Given the description of an element on the screen output the (x, y) to click on. 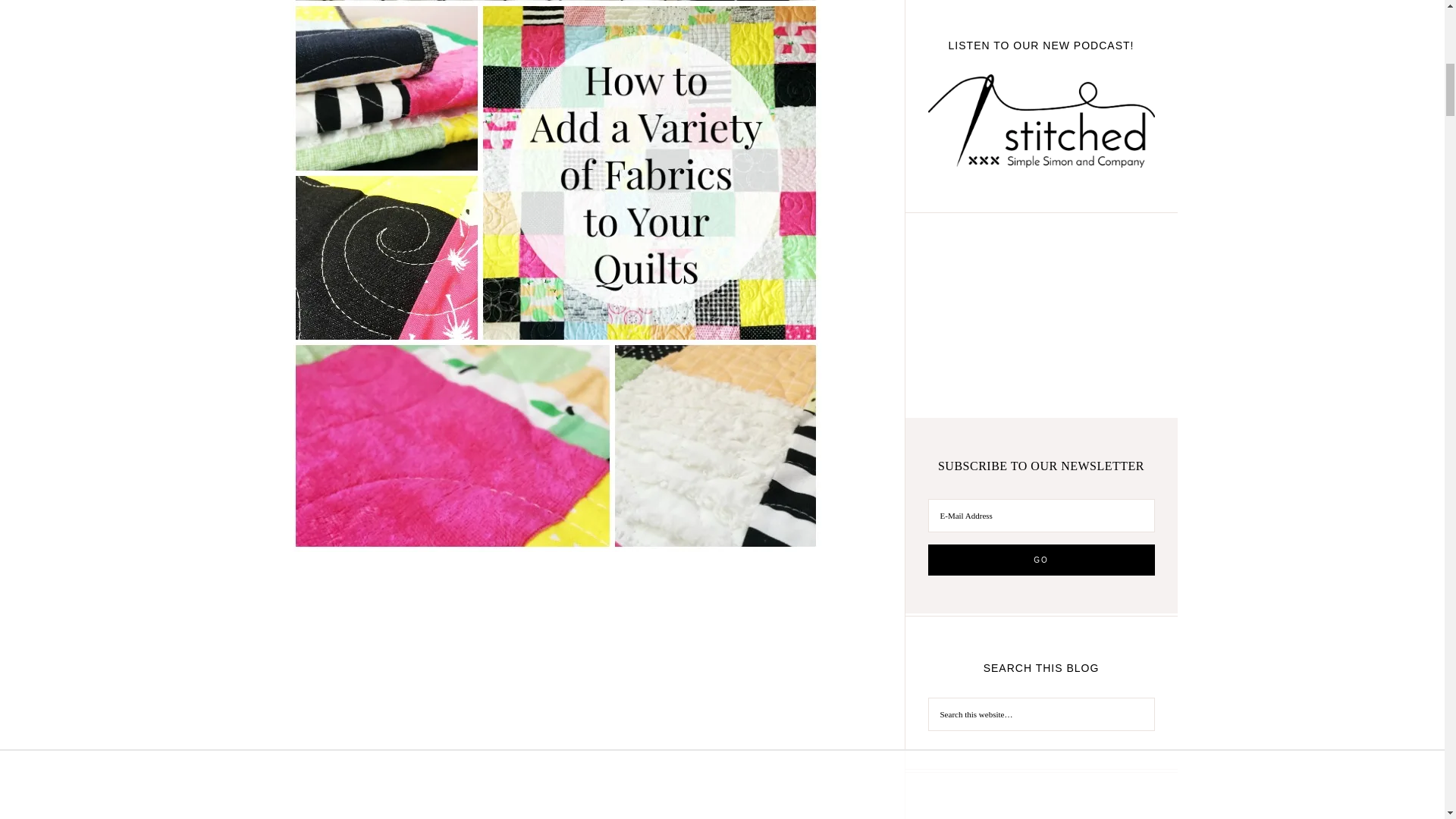
Go (1041, 559)
